Given the description of an element on the screen output the (x, y) to click on. 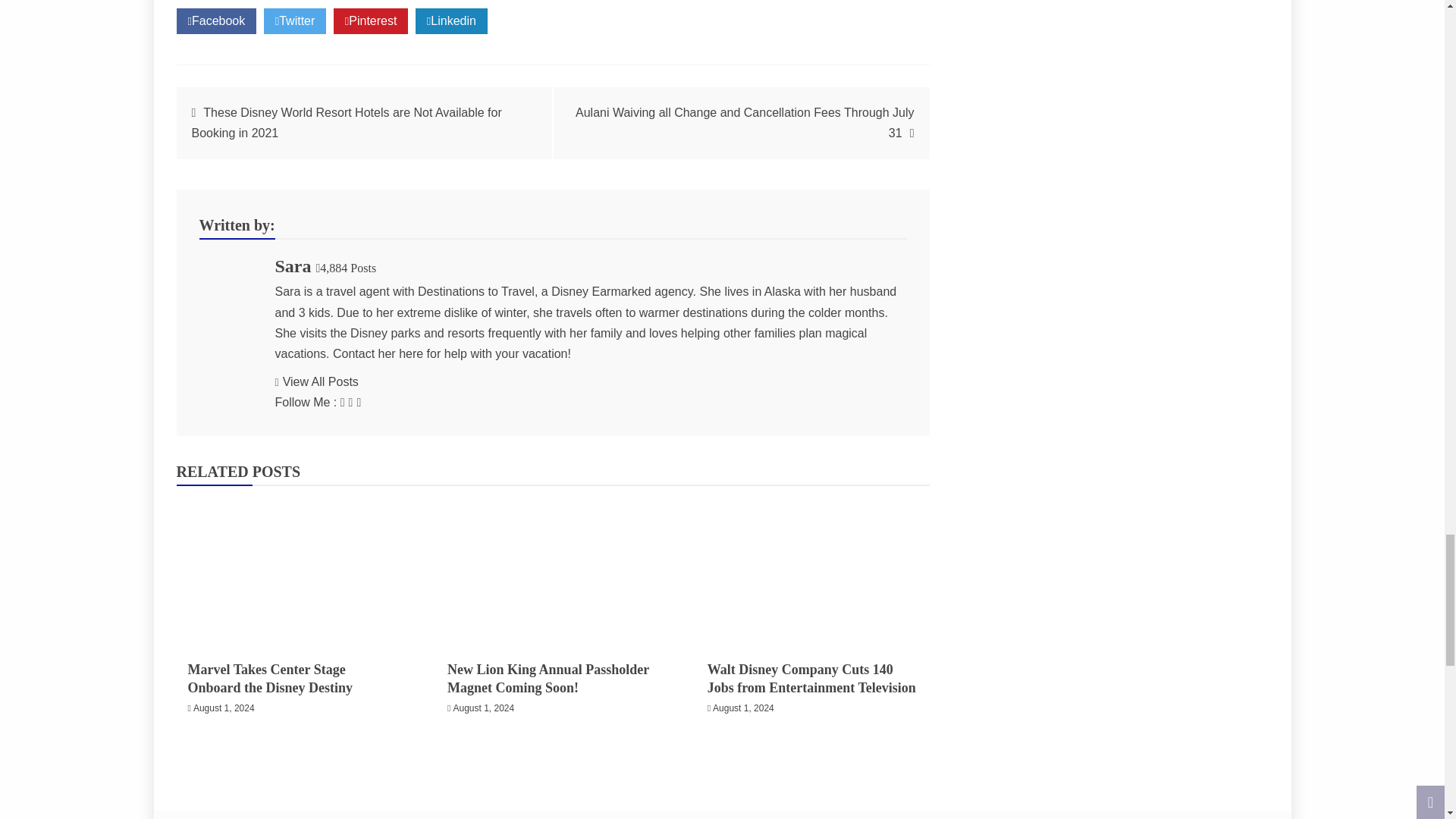
Posts by Sara (293, 266)
Marvel Takes Center Stage Onboard the Disney Destiny (292, 570)
New Lion King Annual Passholder Magnet Coming Soon! (552, 570)
